Given the description of an element on the screen output the (x, y) to click on. 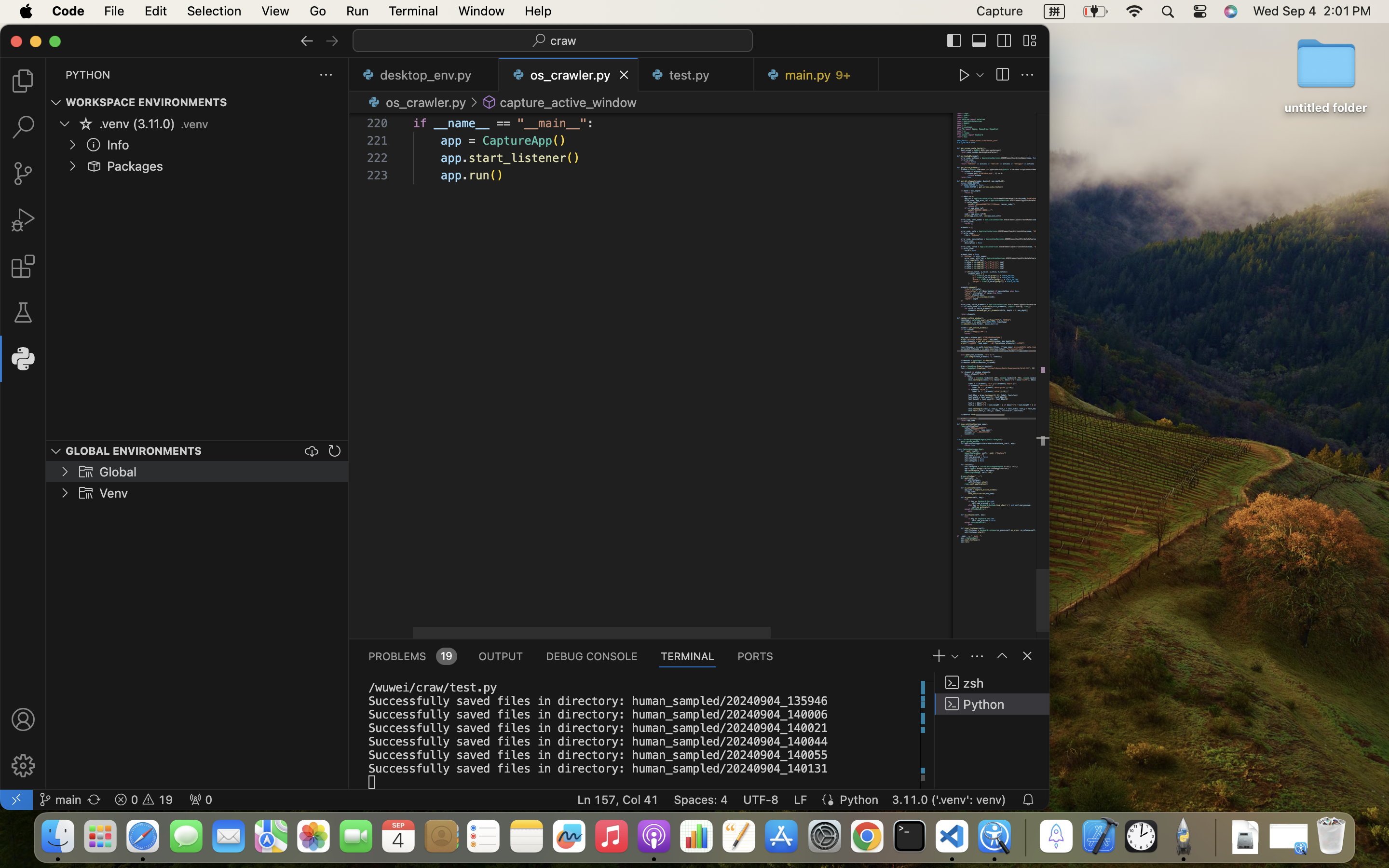
 Element type: AXStaticText (85, 471)
0  Element type: AXRadioButton (23, 80)
0 main.py   9+ Element type: AXRadioButton (816, 74)
 Element type: AXButton (1001, 74)
capture_active_window Element type: AXGroup (567, 101)
